Given the description of an element on the screen output the (x, y) to click on. 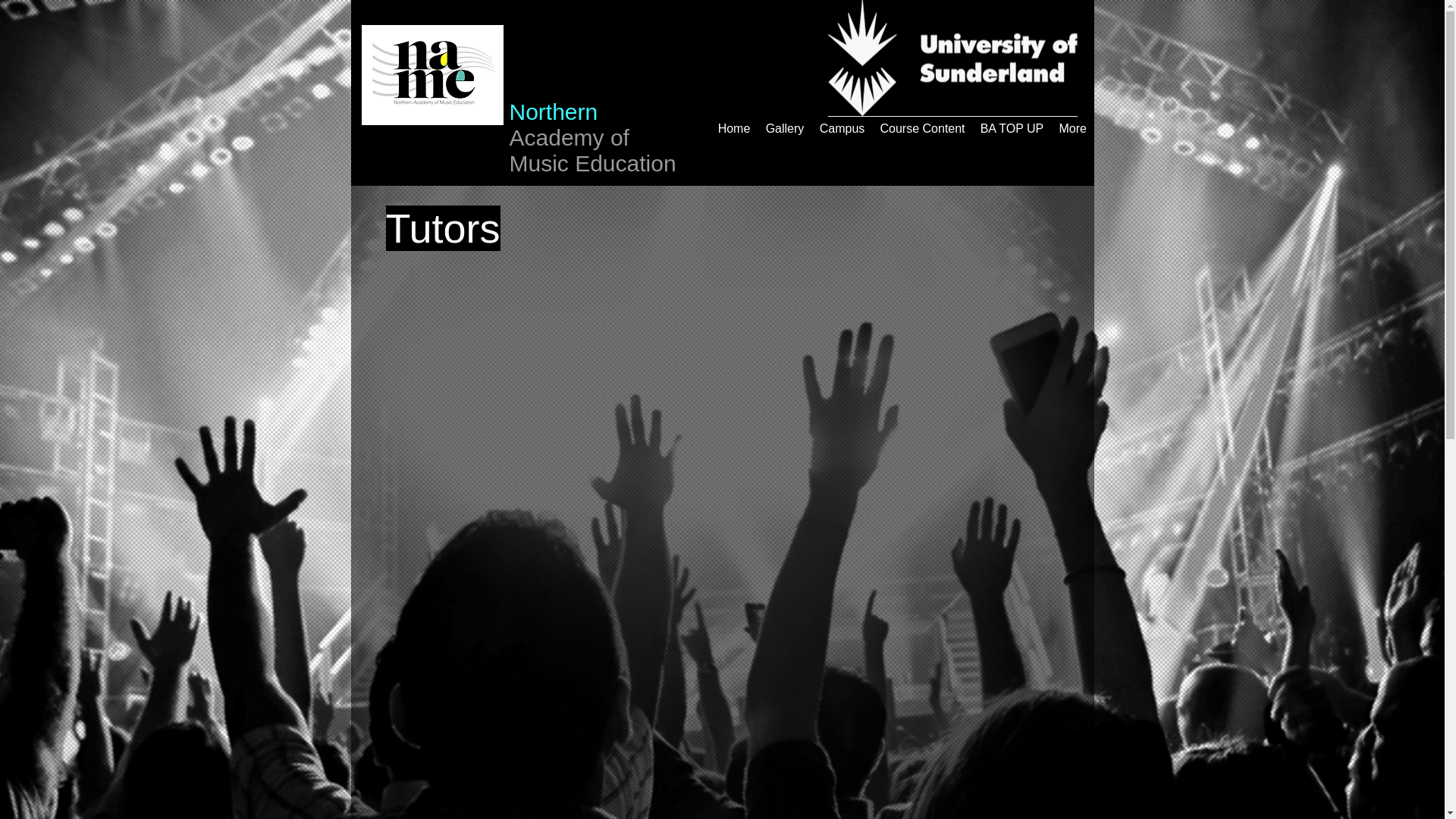
Course Content (922, 128)
Gallery (785, 128)
Campus (841, 128)
Academy of Music Education (593, 150)
Home (733, 128)
BA TOP UP (1011, 128)
